Given the description of an element on the screen output the (x, y) to click on. 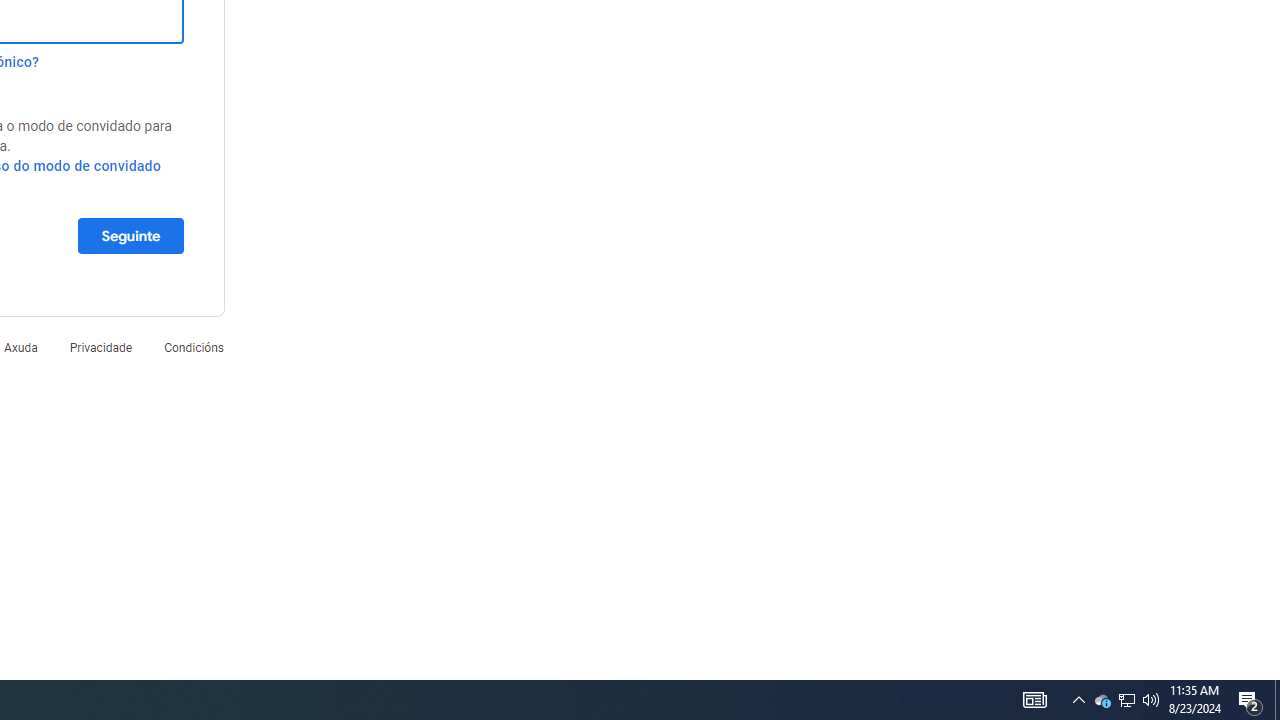
Seguinte (130, 235)
Privacidade (100, 347)
